Given the description of an element on the screen output the (x, y) to click on. 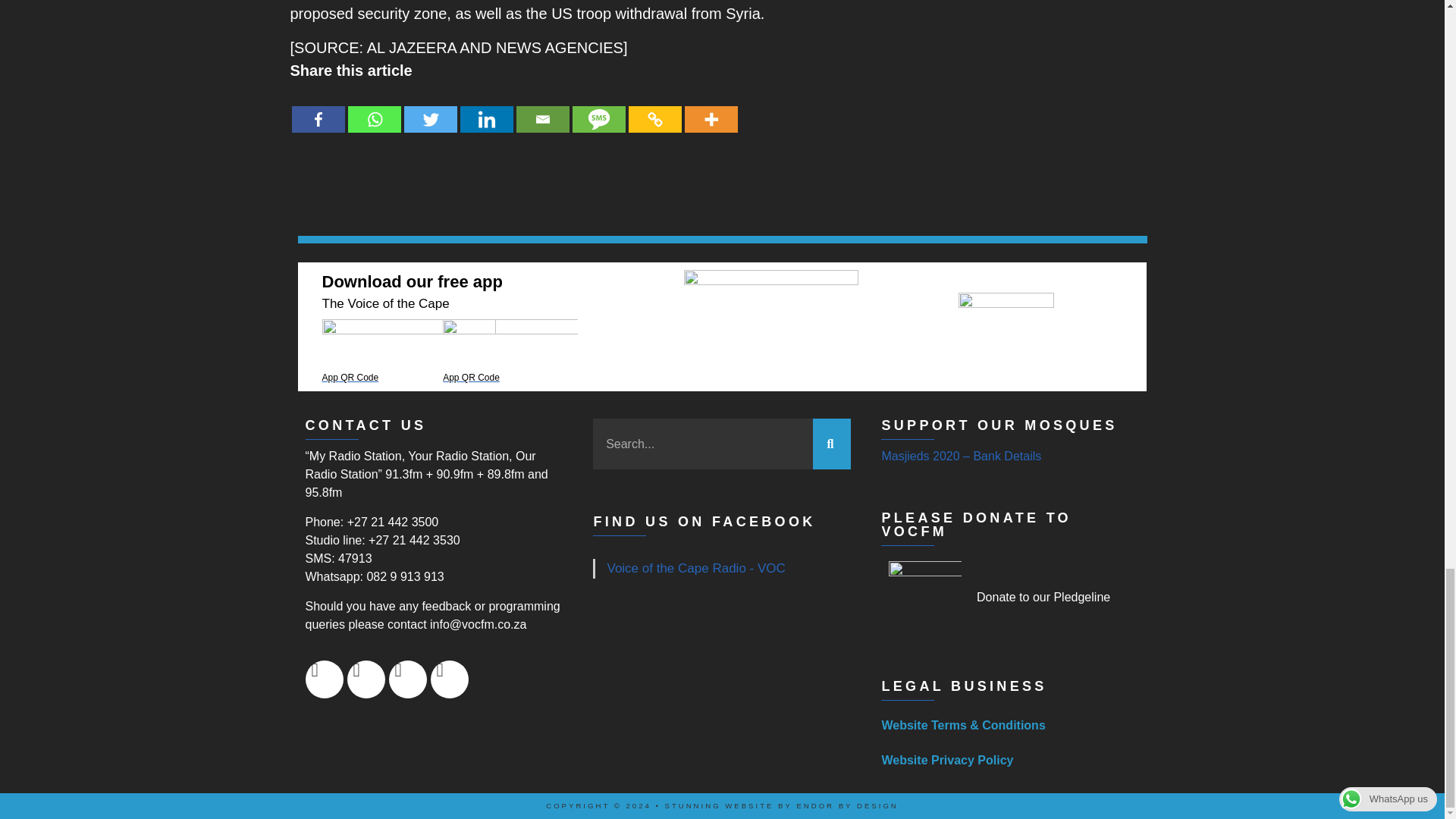
Linkedin (486, 108)
Email (542, 108)
Twitter (430, 108)
Whatsapp (373, 108)
Facebook (317, 108)
